Given the description of an element on the screen output the (x, y) to click on. 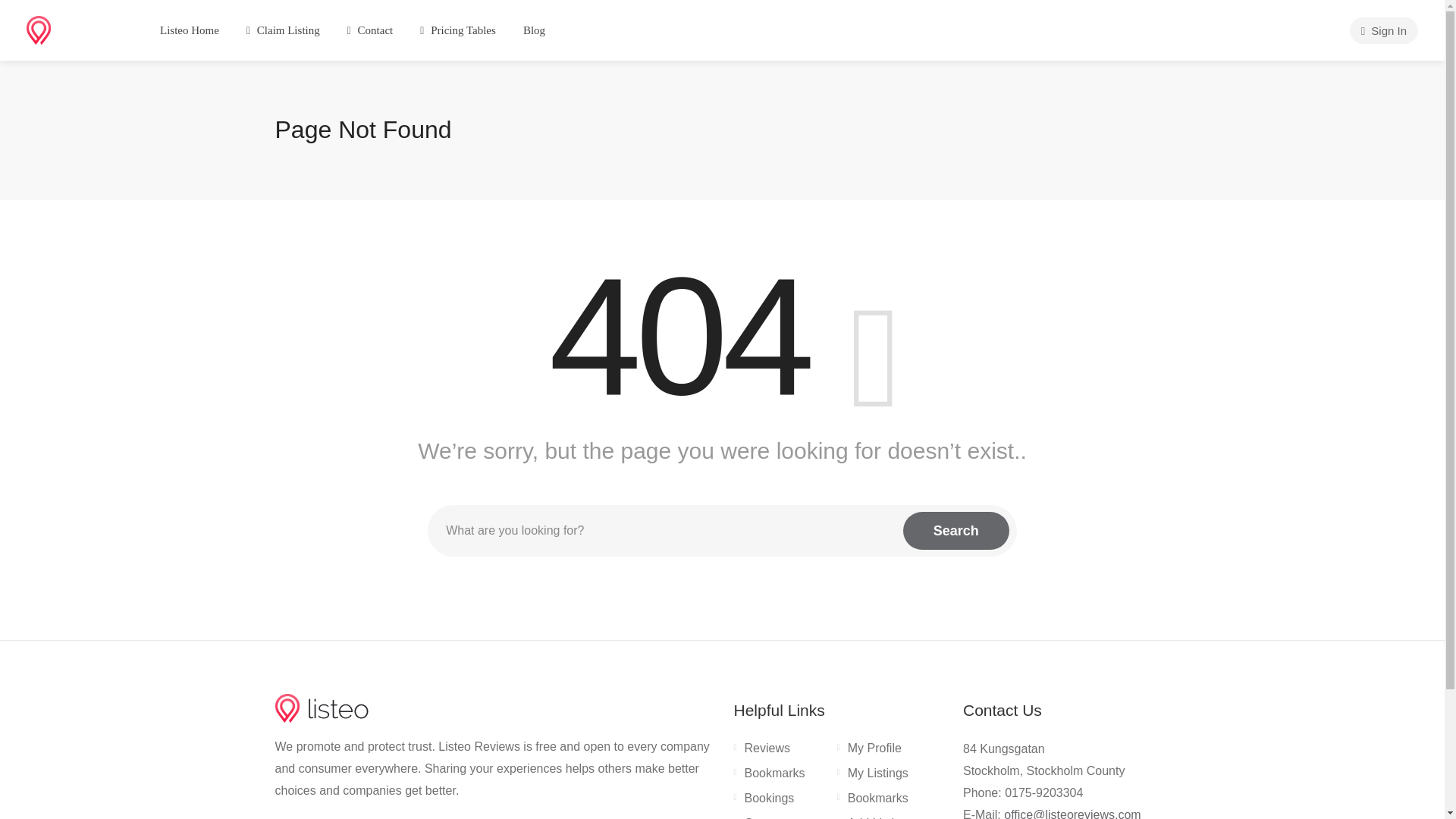
Pricing Tables (457, 30)
Contact (370, 30)
Listeo Home (189, 30)
Sign In (1383, 30)
Bookmarks (872, 801)
My Listings (872, 775)
Search (955, 530)
Blog (534, 30)
Reviews (761, 751)
Bookings (763, 801)
Contact (759, 816)
My Profile (869, 751)
Add Listing (872, 816)
Claim Listing (282, 30)
Listeo Reviews (72, 29)
